Given the description of an element on the screen output the (x, y) to click on. 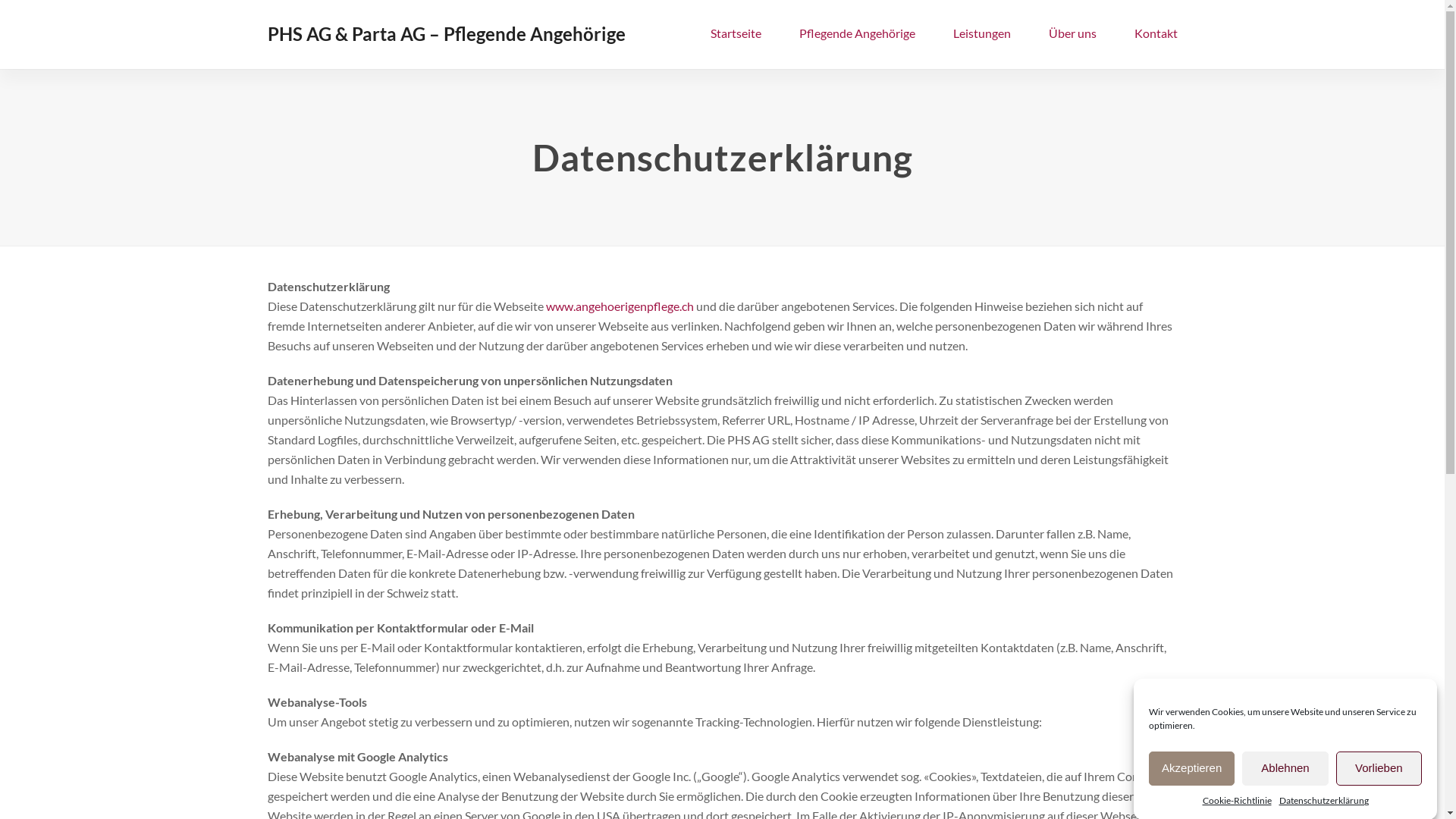
Akzeptieren Element type: text (1191, 767)
Vorlieben Element type: text (1378, 767)
Ablehnen Element type: text (1284, 767)
Cookie-Richtlinie Element type: text (1236, 800)
Startseite Element type: text (735, 34)
www.angehoerigenpflege.ch Element type: text (619, 305)
Kontakt Element type: text (1155, 34)
Leistungen Element type: text (981, 34)
